Given the description of an element on the screen output the (x, y) to click on. 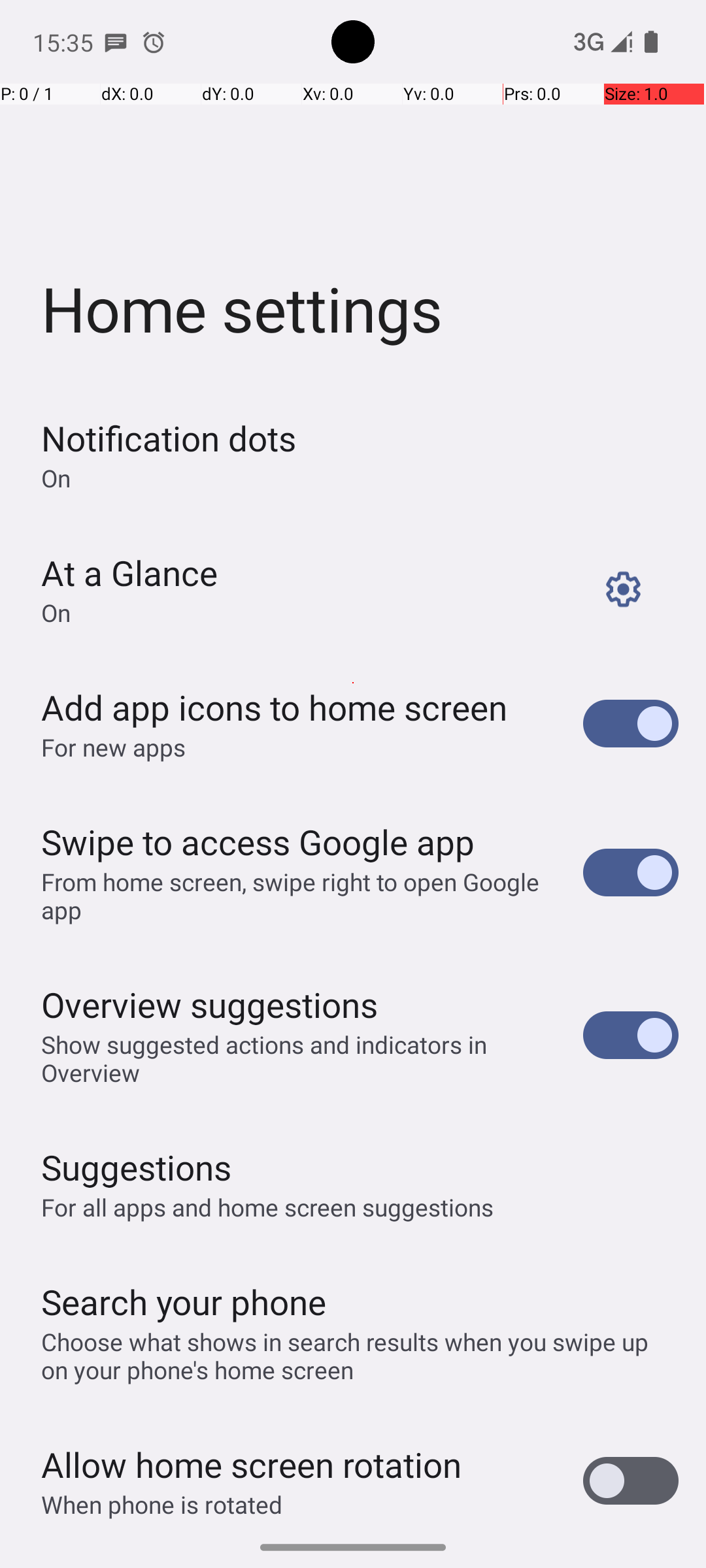
Home settings Element type: android.widget.FrameLayout (353, 193)
Notification dots Element type: android.widget.TextView (168, 437)
At a Glance Element type: android.widget.TextView (129, 572)
Customize Element type: android.widget.ImageView (623, 589)
Add app icons to home screen Element type: android.widget.TextView (274, 707)
For new apps Element type: android.widget.TextView (113, 746)
Swipe to access Google app Element type: android.widget.TextView (258, 841)
From home screen, swipe right to open Google app Element type: android.widget.TextView (298, 895)
Overview suggestions Element type: android.widget.TextView (209, 1004)
Show suggested actions and indicators in Overview Element type: android.widget.TextView (298, 1058)
For all apps and home screen suggestions Element type: android.widget.TextView (267, 1206)
Search your phone Element type: android.widget.TextView (183, 1301)
Choose what shows in search results when you swipe up on your phone's home screen Element type: android.widget.TextView (359, 1355)
Allow home screen rotation Element type: android.widget.TextView (251, 1464)
When phone is rotated Element type: android.widget.TextView (161, 1503)
